Given the description of an element on the screen output the (x, y) to click on. 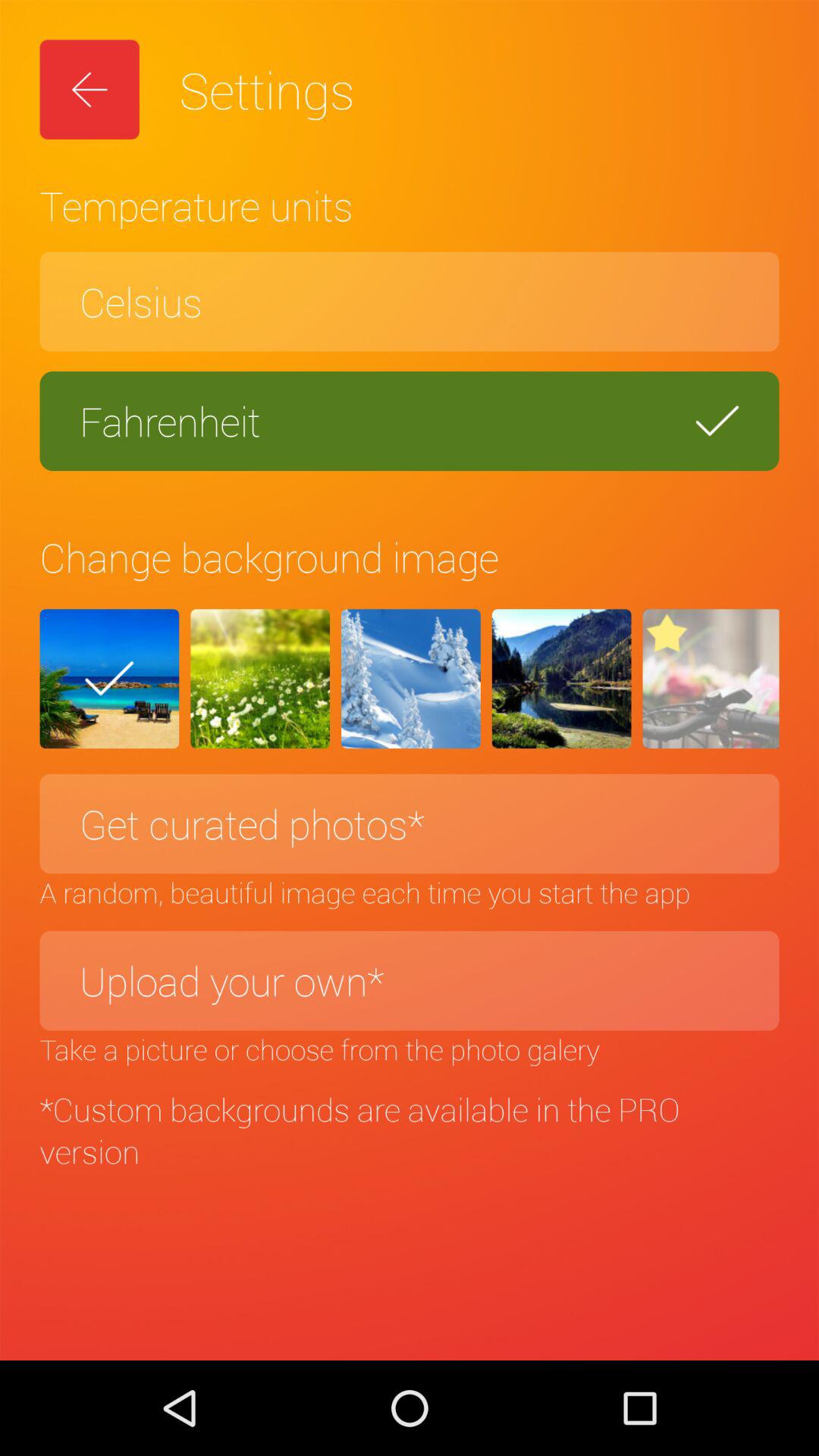
launch the item above the get curated photos* icon (561, 678)
